Given the description of an element on the screen output the (x, y) to click on. 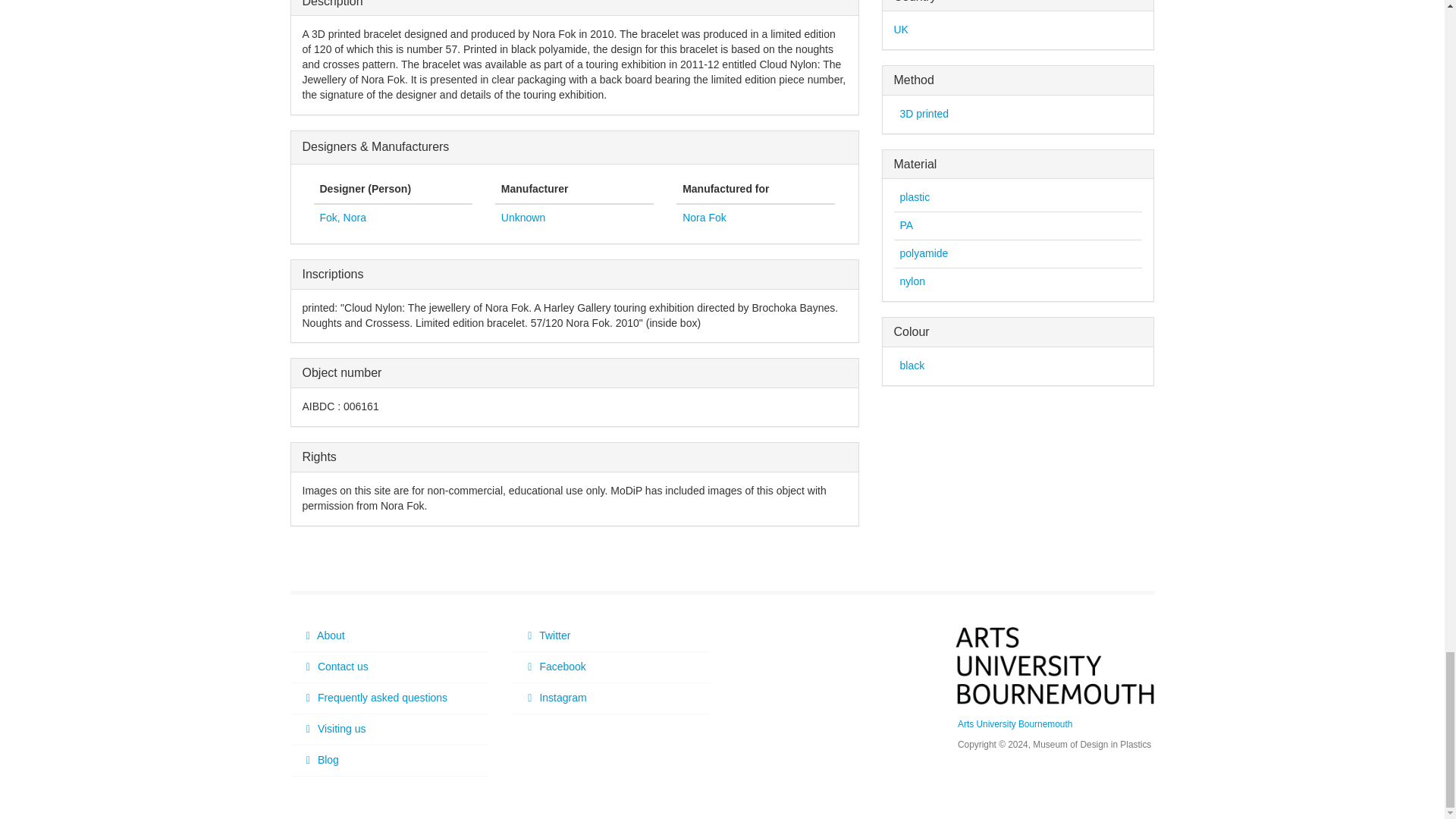
black (911, 365)
Follow us on Twitter (611, 635)
Nora Fok (704, 217)
About (389, 635)
Find us on Facebook (611, 666)
Visiting us (389, 729)
Instagram (611, 698)
nylon (911, 281)
polyamide (923, 253)
Unknown (522, 217)
